Given the description of an element on the screen output the (x, y) to click on. 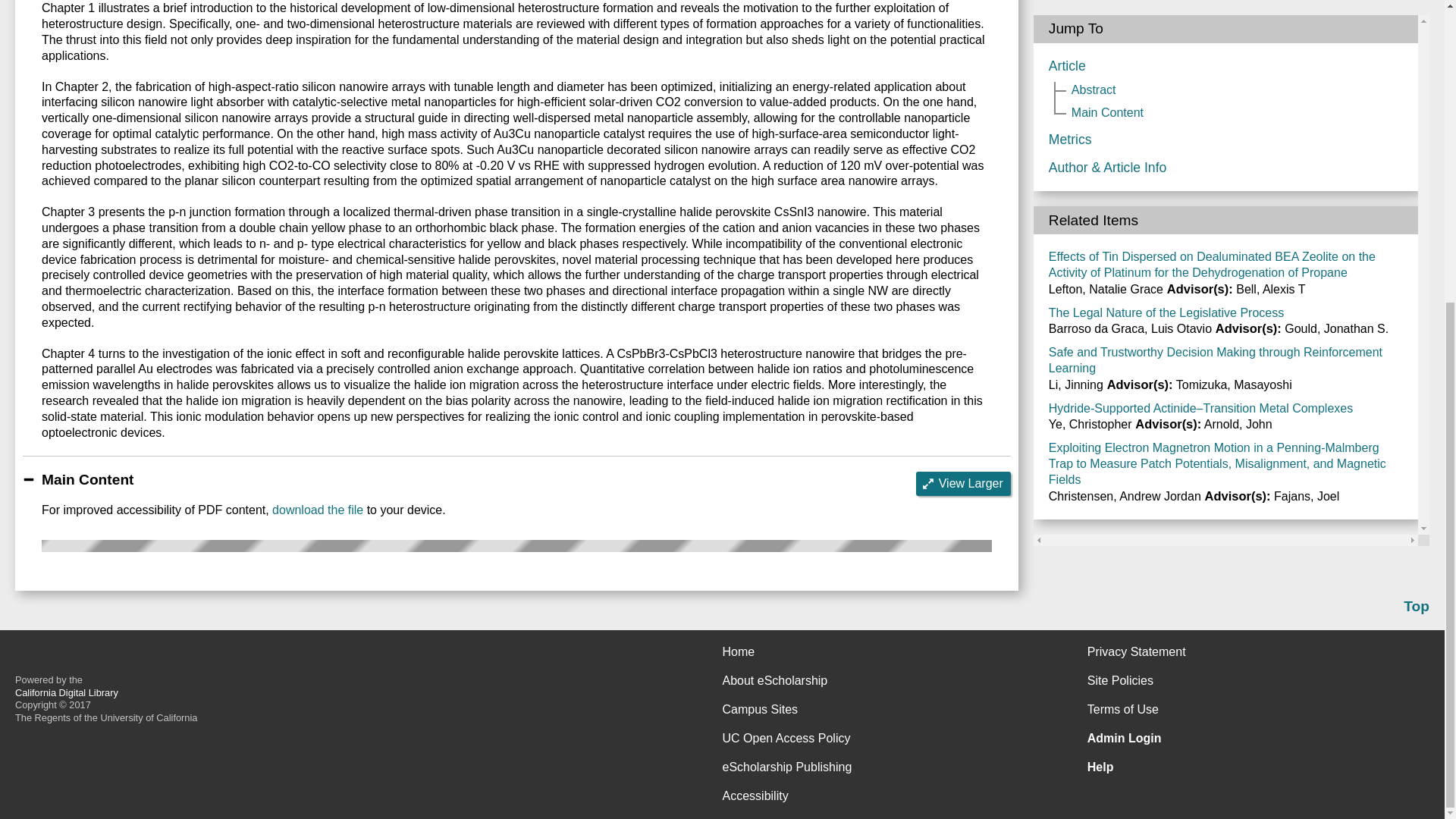
download the file (317, 509)
View Larger (962, 483)
